Given the description of an element on the screen output the (x, y) to click on. 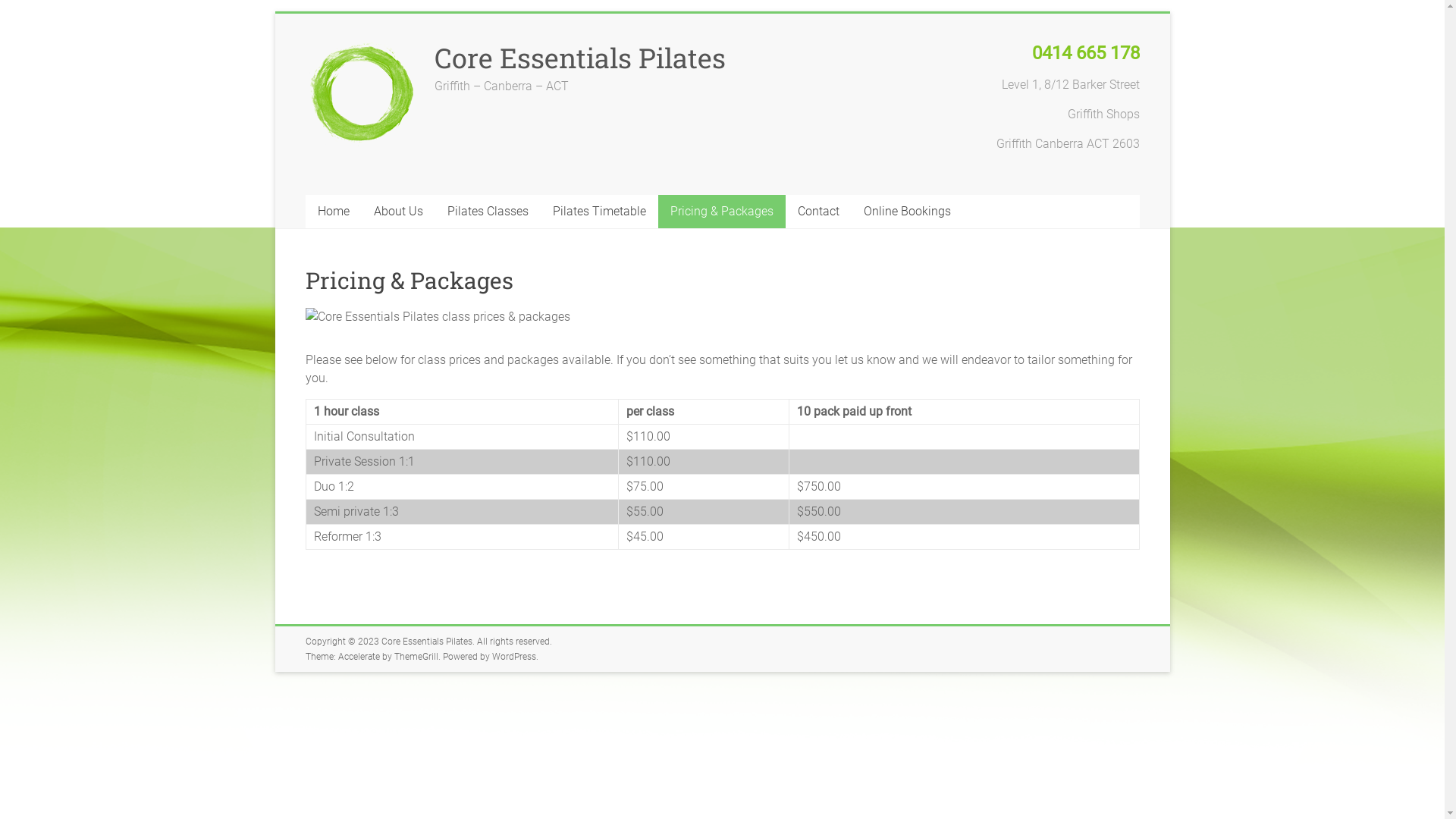
About Us Element type: text (397, 211)
Pilates Classes Element type: text (487, 211)
Pilates Timetable Element type: text (598, 211)
Online Bookings Element type: text (906, 211)
Skip to content Element type: text (274, 12)
Contact Element type: text (818, 211)
0414 665 178 Element type: text (1085, 54)
Accelerate Element type: text (358, 656)
Core Essentials Pilates Element type: text (578, 57)
Core Essentials Pilates class prices & packages Element type: hover (436, 316)
Pricing & Packages Element type: text (721, 211)
WordPress Element type: text (513, 656)
Home Element type: text (332, 211)
Core Essentials Pilates Element type: text (425, 641)
